Given the description of an element on the screen output the (x, y) to click on. 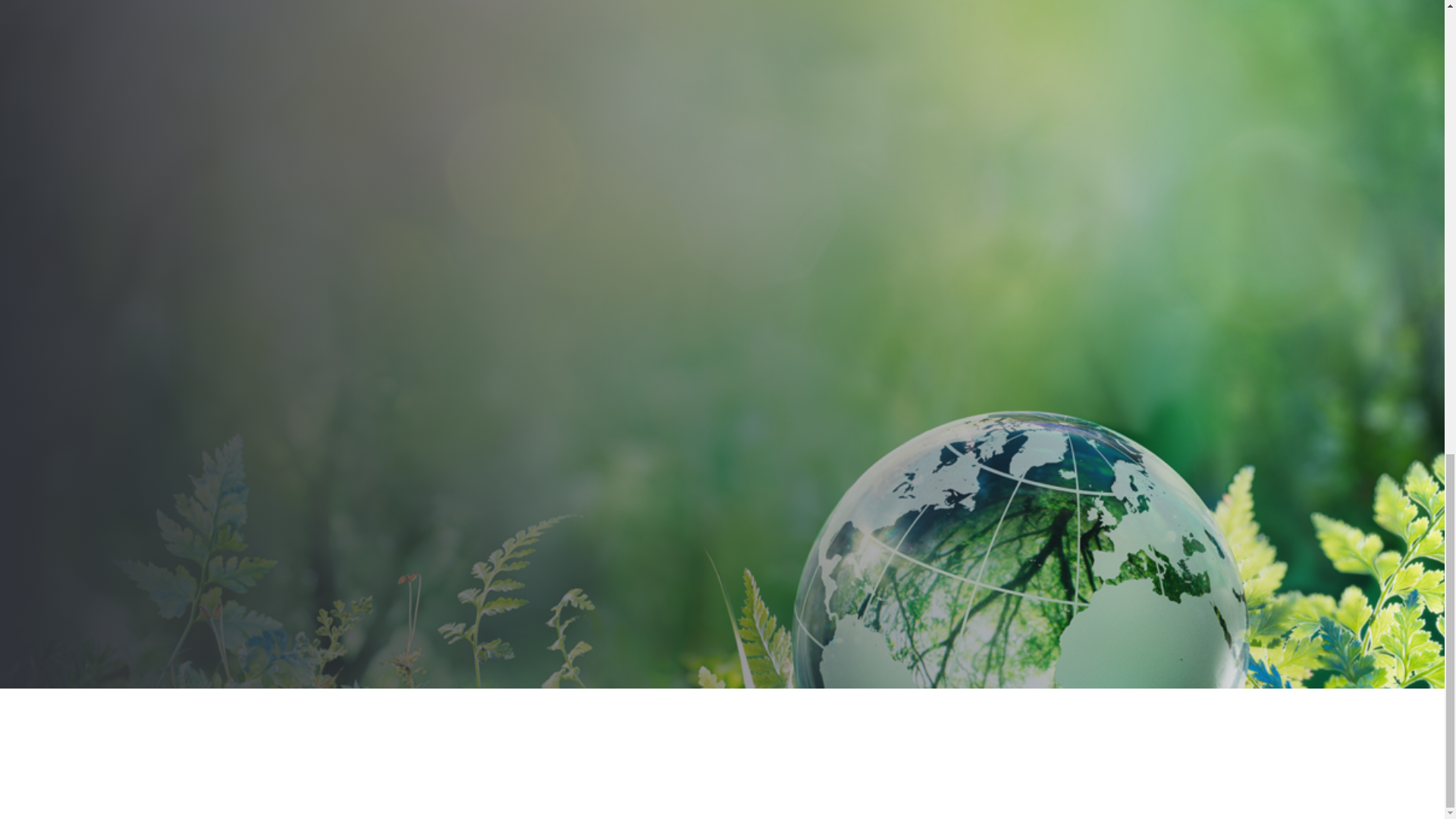
Submit Form (463, 433)
